Given the description of an element on the screen output the (x, y) to click on. 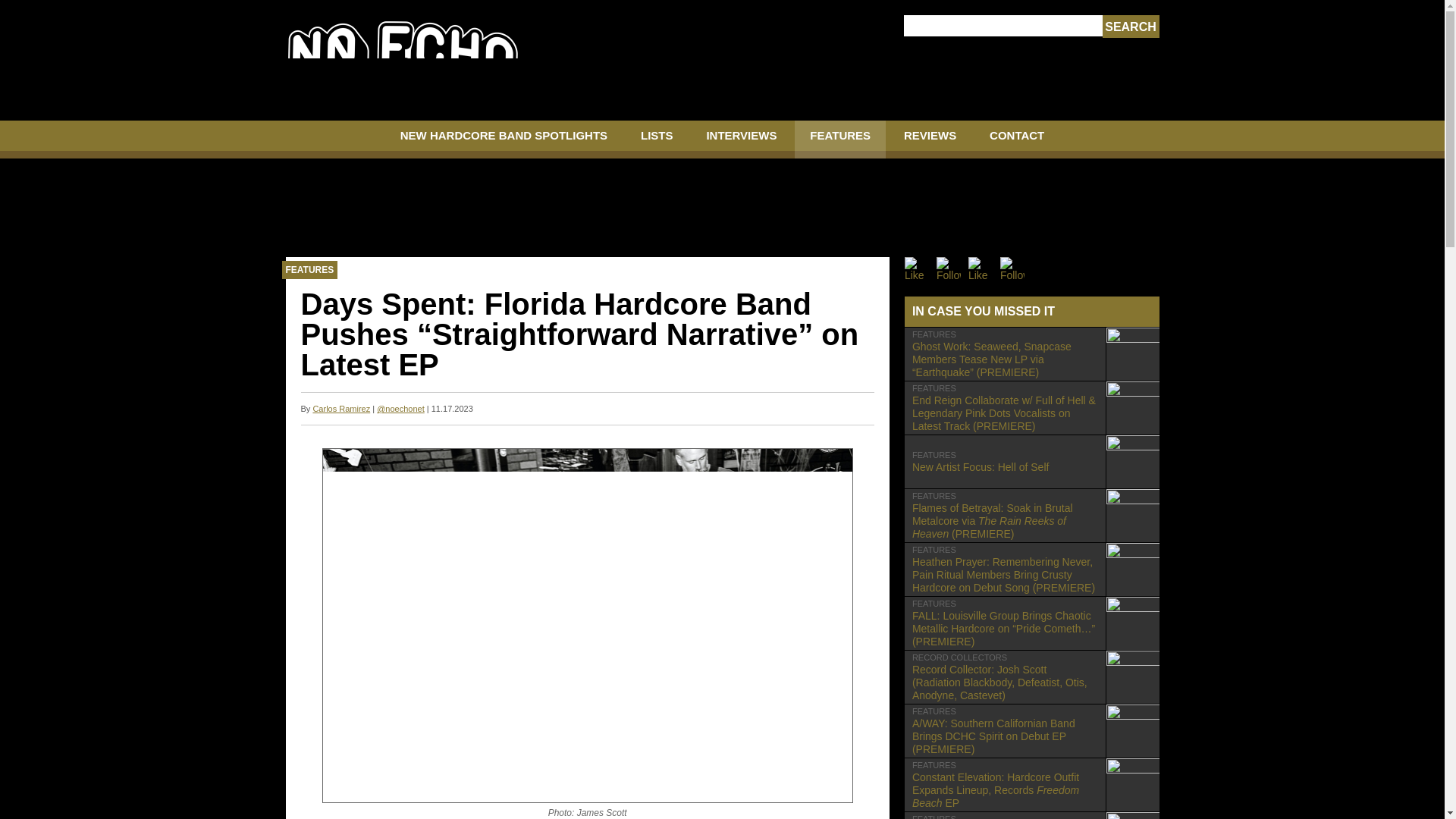
CONTACT (1016, 139)
REVIEWS (929, 139)
Search (1130, 26)
INTERVIEWS (741, 139)
Search (1130, 26)
Carlos Ramirez (1031, 461)
NEW HARDCORE BAND SPOTLIGHTS (341, 408)
FEATURES (504, 139)
LISTS (839, 139)
